Given the description of an element on the screen output the (x, y) to click on. 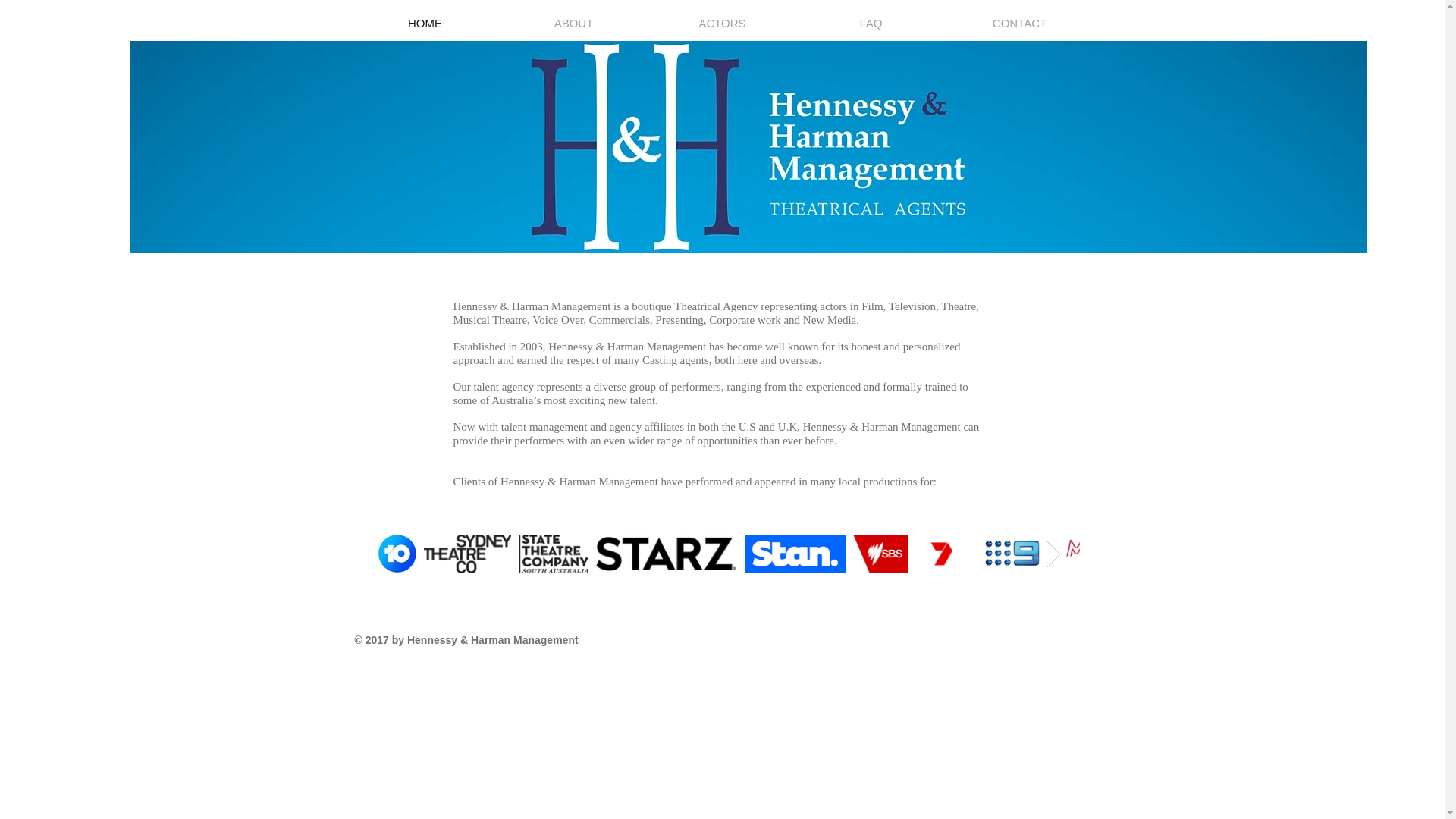
CONTACT (1018, 23)
ABOUT (573, 23)
HOME (424, 23)
FAQ (870, 23)
ACTORS (721, 23)
